Given the description of an element on the screen output the (x, y) to click on. 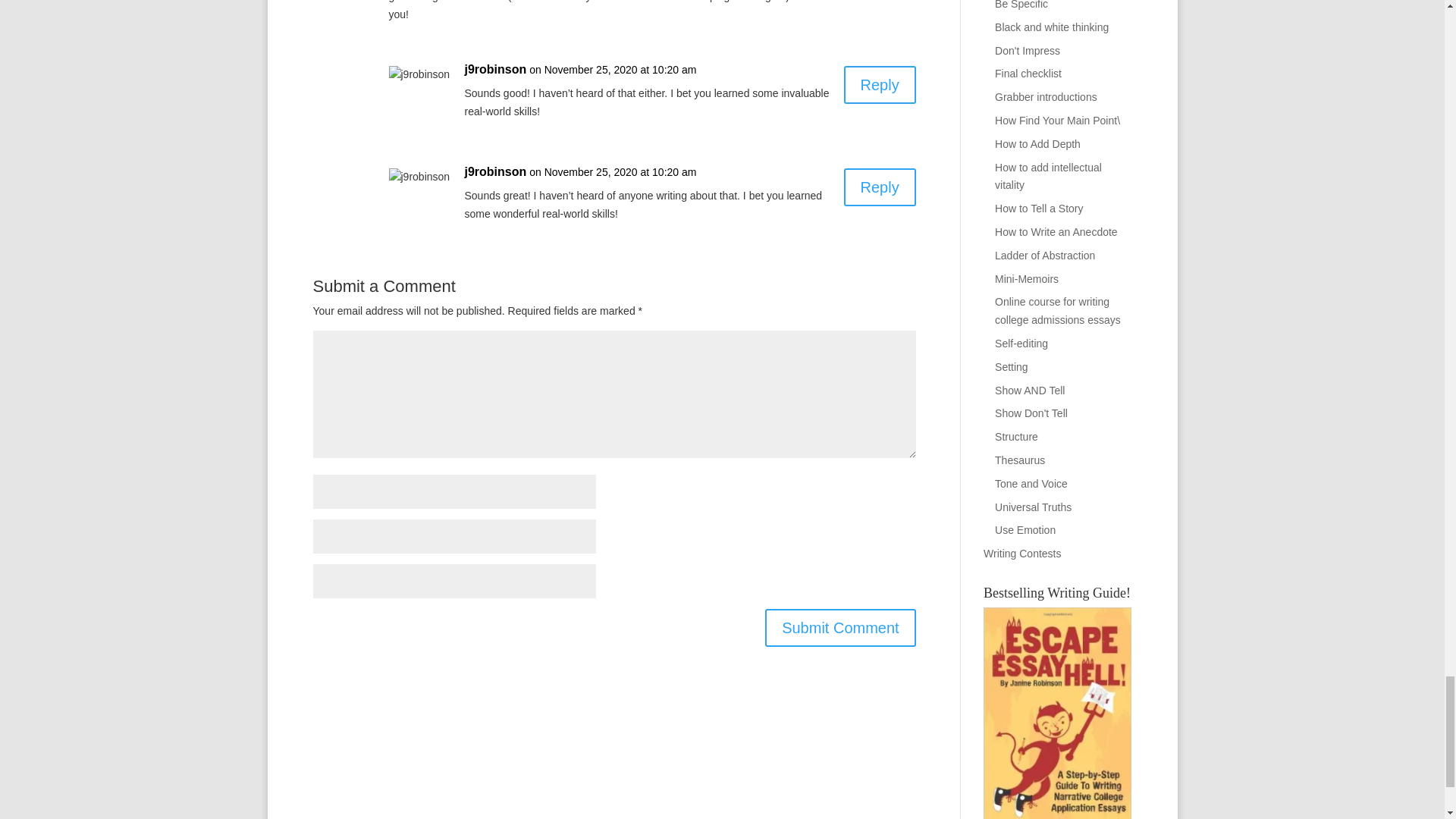
Submit Comment (840, 628)
